Given the description of an element on the screen output the (x, y) to click on. 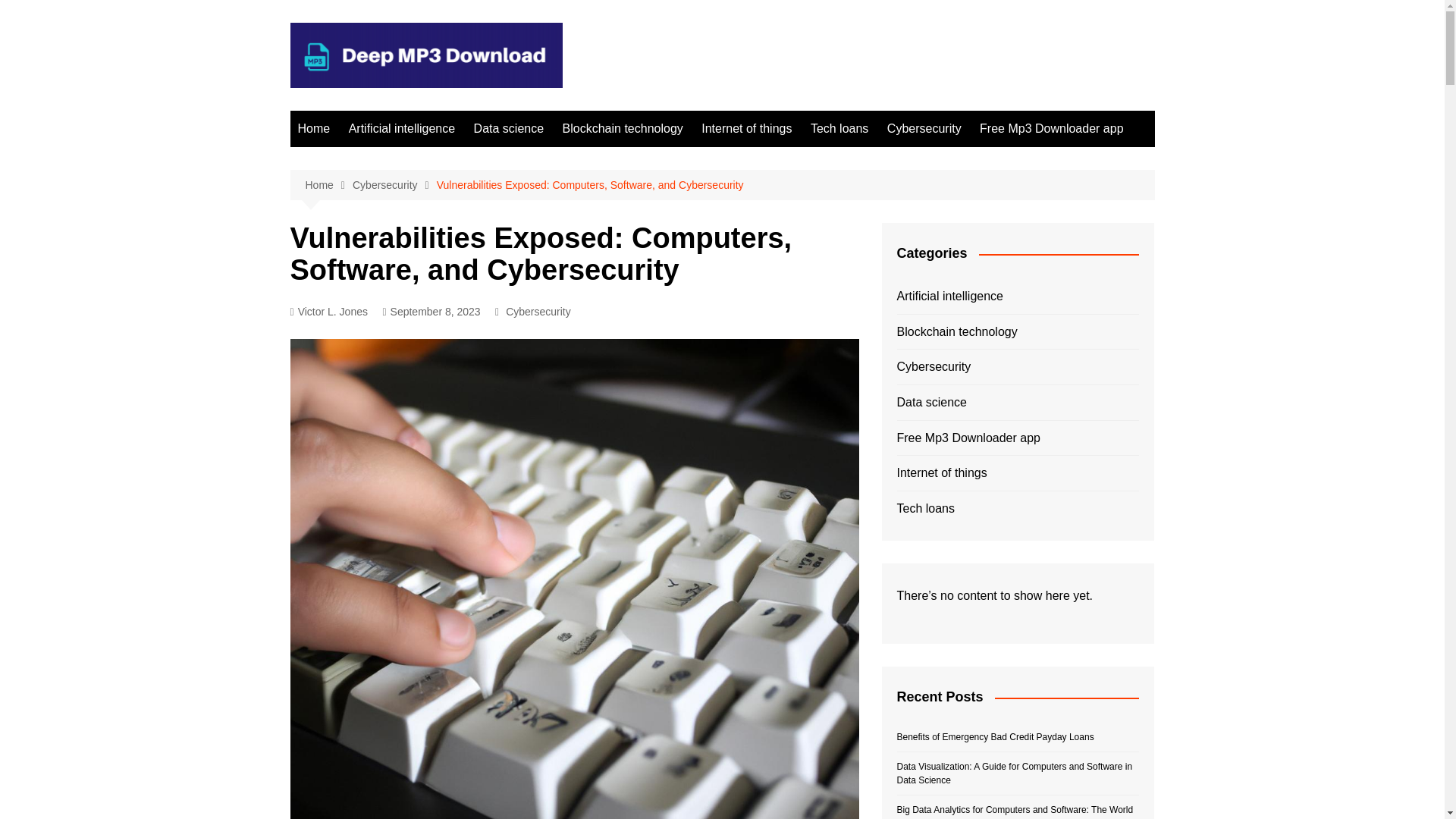
Tech loans (839, 128)
Home (313, 128)
Victor L. Jones (327, 312)
Data science (508, 128)
Blockchain technology (622, 128)
Cybersecurity (394, 185)
Cybersecurity (537, 311)
Cybersecurity (924, 128)
September 8, 2023 (430, 312)
Home (328, 185)
